Given the description of an element on the screen output the (x, y) to click on. 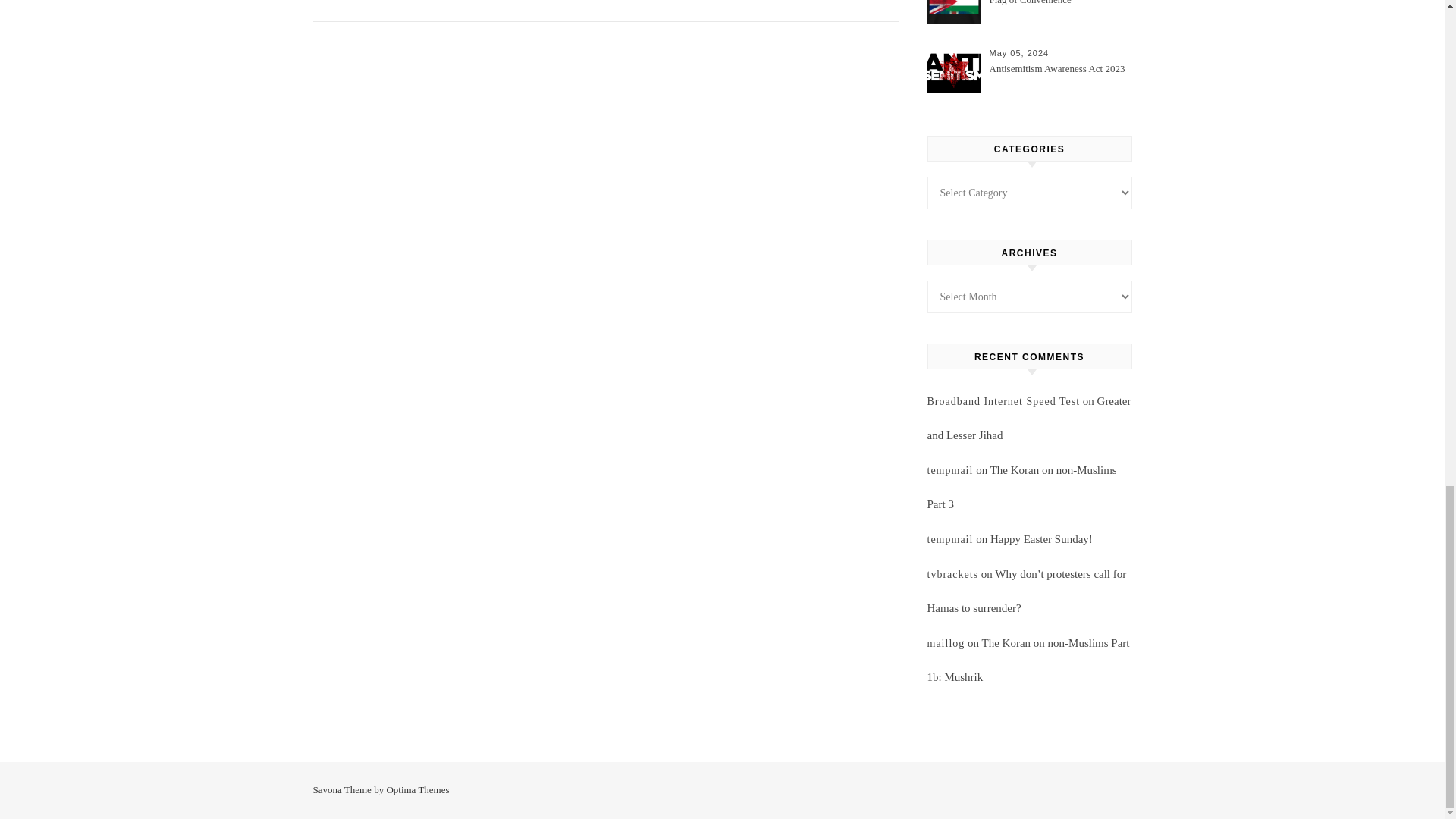
tempmail (949, 470)
Broadband Internet Speed Test (1003, 401)
Flag of Convenience (1058, 13)
Antisemitism Awareness Act 2023 (1058, 77)
Posts by Admin1 (344, 2)
Admin1 (344, 2)
Greater and Lesser Jihad (1028, 417)
